Given the description of an element on the screen output the (x, y) to click on. 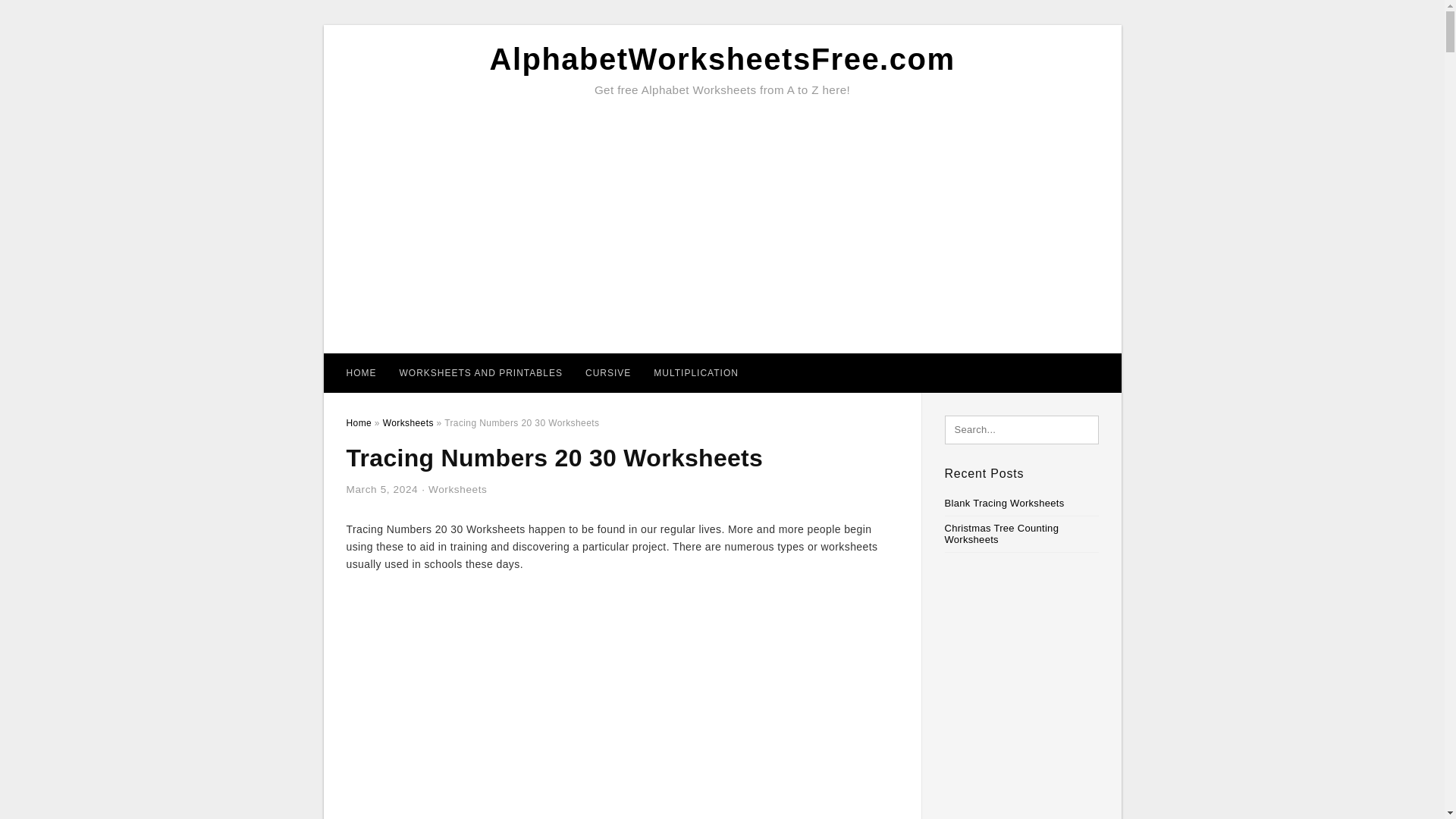
Worksheets (407, 422)
HOME (361, 372)
Advertisement (622, 695)
Worksheets (457, 489)
MULTIPLICATION (695, 372)
CURSIVE (607, 372)
AlphabetWorksheetsFree.com (722, 59)
WORKSHEETS AND PRINTABLES (480, 372)
Home (358, 422)
